Given the description of an element on the screen output the (x, y) to click on. 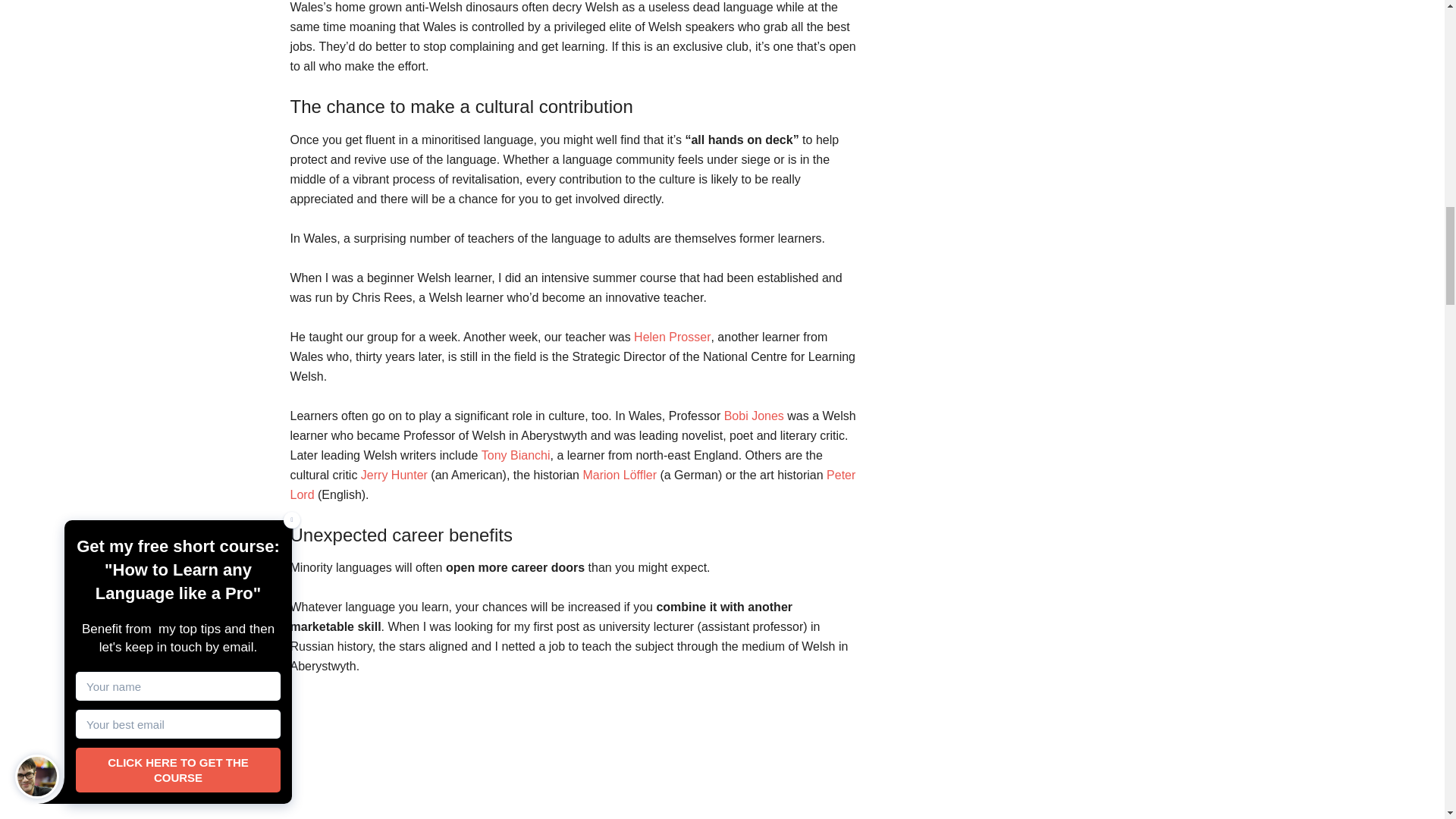
Jerry Hunter (394, 474)
Helen Prosser (671, 336)
Tony Bianchi (515, 454)
Bobi Jones (753, 415)
Peter Lord (572, 484)
